Given the description of an element on the screen output the (x, y) to click on. 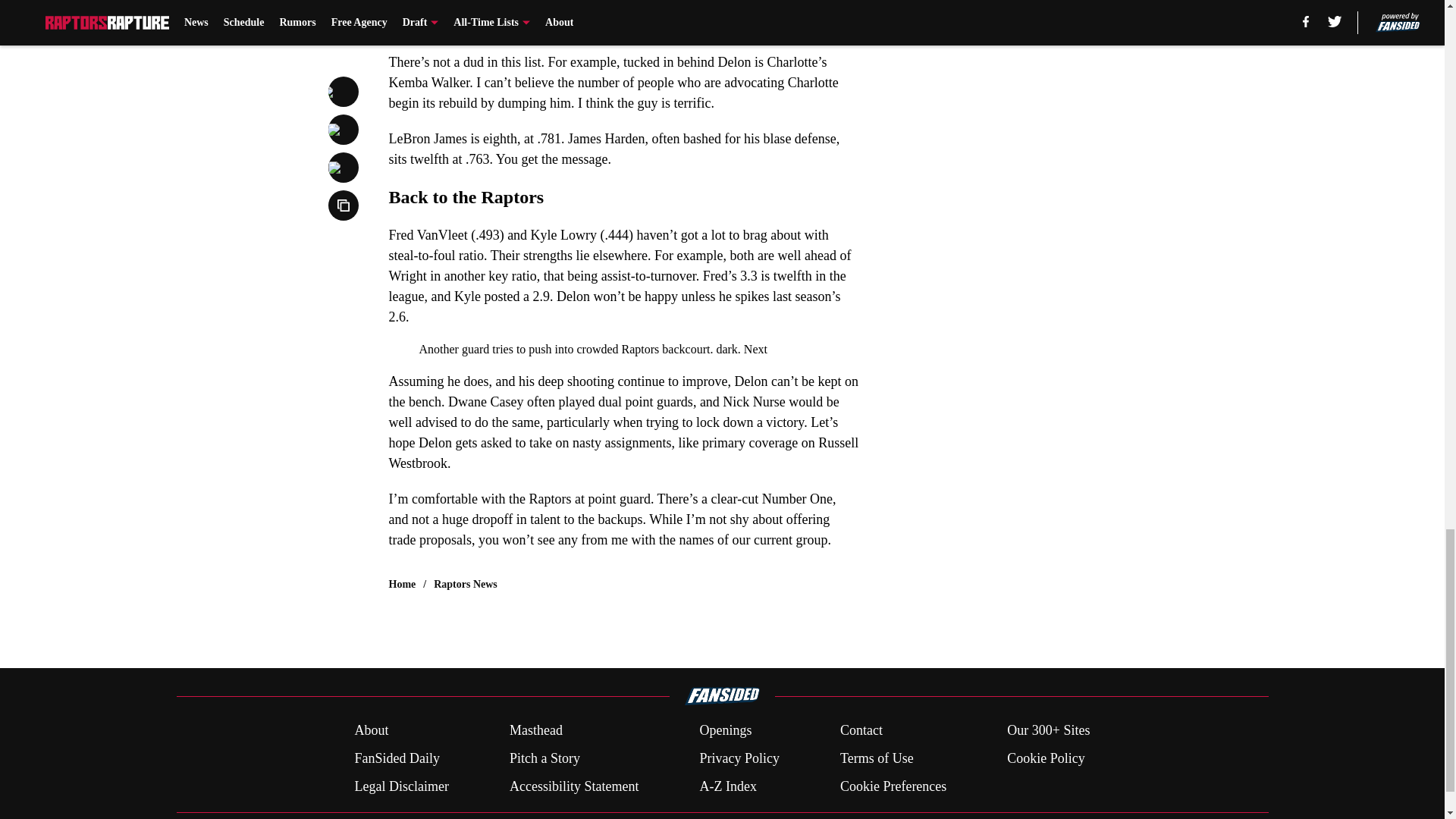
Legal Disclaimer (400, 786)
Openings (724, 730)
FanSided Daily (396, 758)
Masthead (535, 730)
Home (401, 584)
Cookie Policy (1045, 758)
Contact (861, 730)
Terms of Use (877, 758)
Raptors News (465, 584)
Privacy Policy (738, 758)
About (370, 730)
Pitch a Story (544, 758)
